Given the description of an element on the screen output the (x, y) to click on. 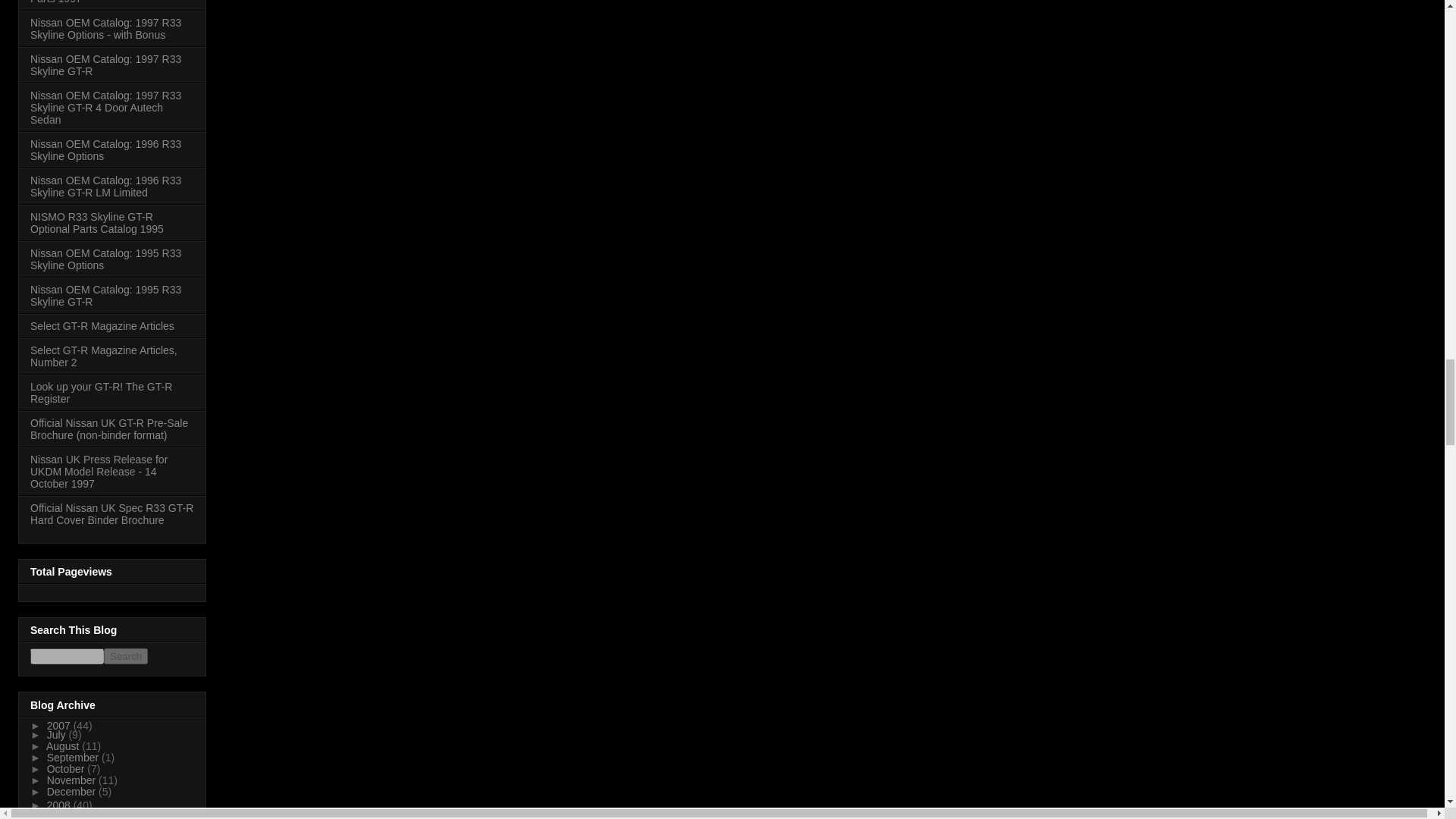
Nismo R33 Skyline GT-R Street Parts 1997 (104, 2)
Nissan OEM Catalog: 1995 R33 Skyline Options (105, 259)
Nissan OEM Catalog: 1996 R33 Skyline Options (105, 150)
Nissan OEM Catalog: 1996 R33 Skyline GT-R LM Limited (105, 186)
Search (125, 656)
Nissan OEM Catalog: 1997 R33 Skyline GT-R (105, 64)
NISMO R33 Skyline GT-R Optional Parts Catalog 1995 (96, 222)
search (125, 656)
Search (125, 656)
search (66, 656)
Nissan OEM Catalog: 1997 R33 Skyline Options - with Bonus (105, 28)
